Given the description of an element on the screen output the (x, y) to click on. 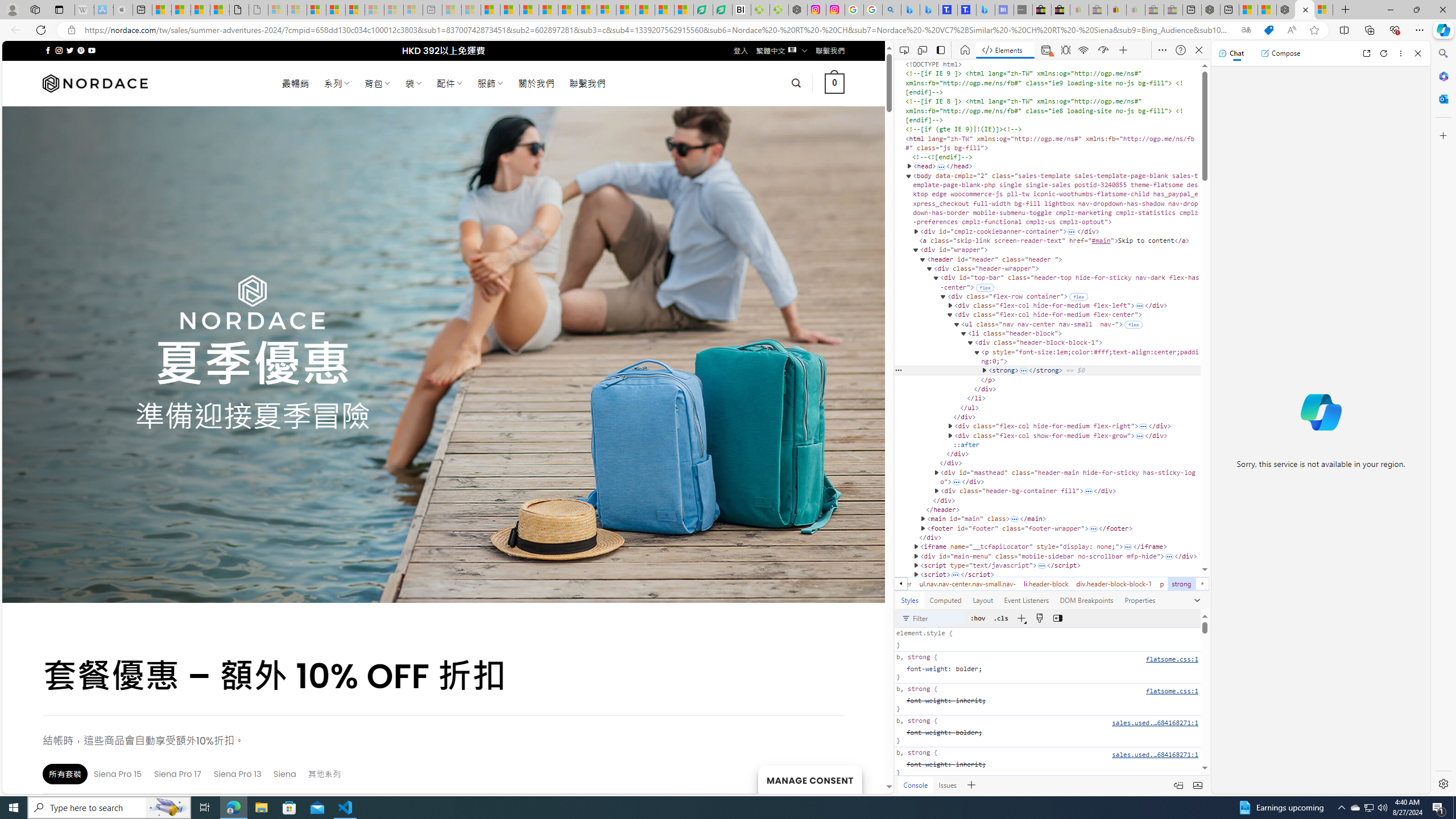
Close DevTools (1199, 49)
Marine life - MSN - Sleeping (471, 9)
Scroll left (900, 583)
Siena Pro 13 (237, 773)
strong (1181, 583)
Dock Quick View to the right (1178, 784)
Tab actions menu (58, 9)
Workspaces (34, 9)
Drinking tea every day is proven to delay biological aging (548, 9)
